Given the description of an element on the screen output the (x, y) to click on. 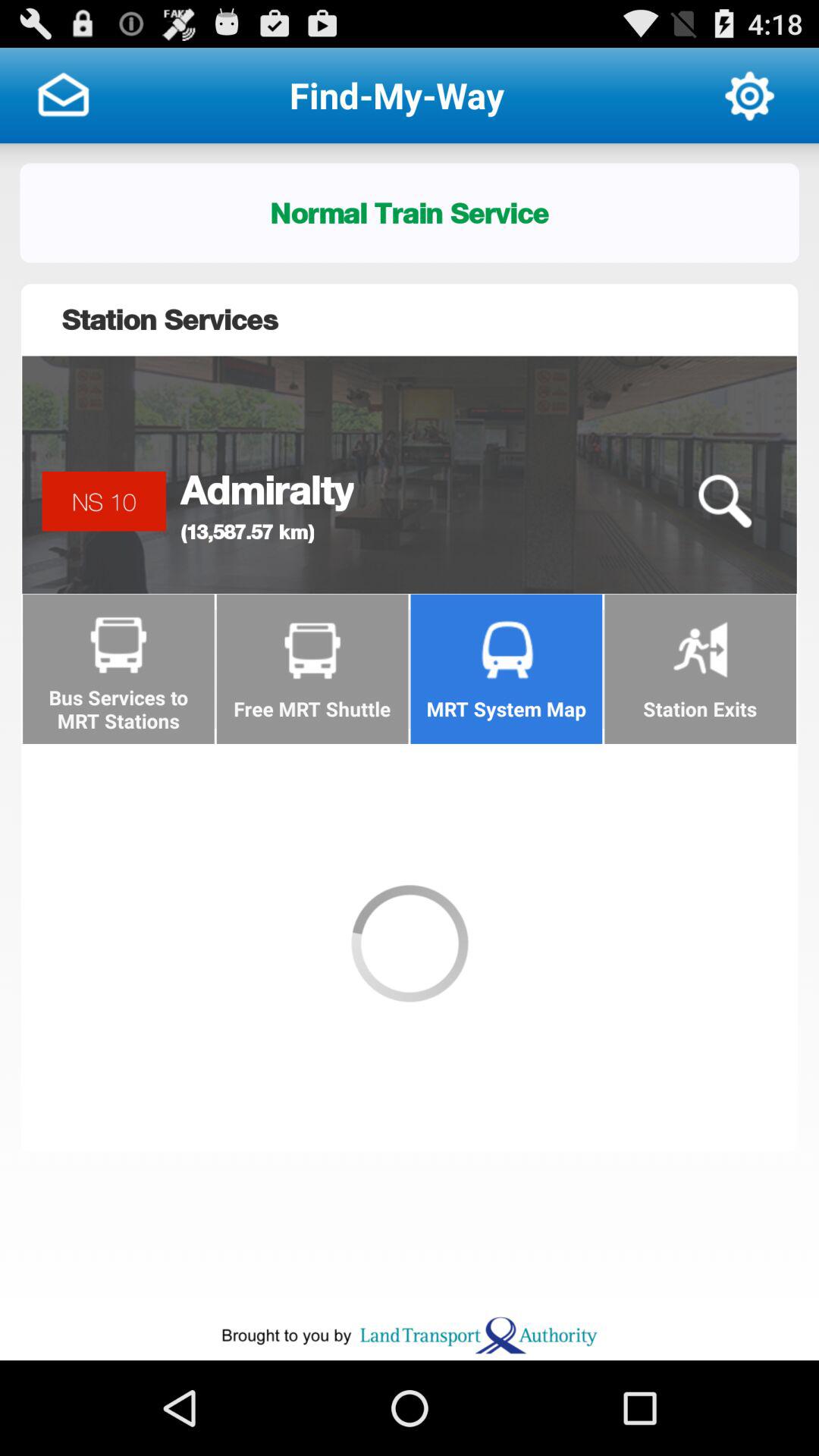
open the icon above the normal train service item (62, 95)
